Given the description of an element on the screen output the (x, y) to click on. 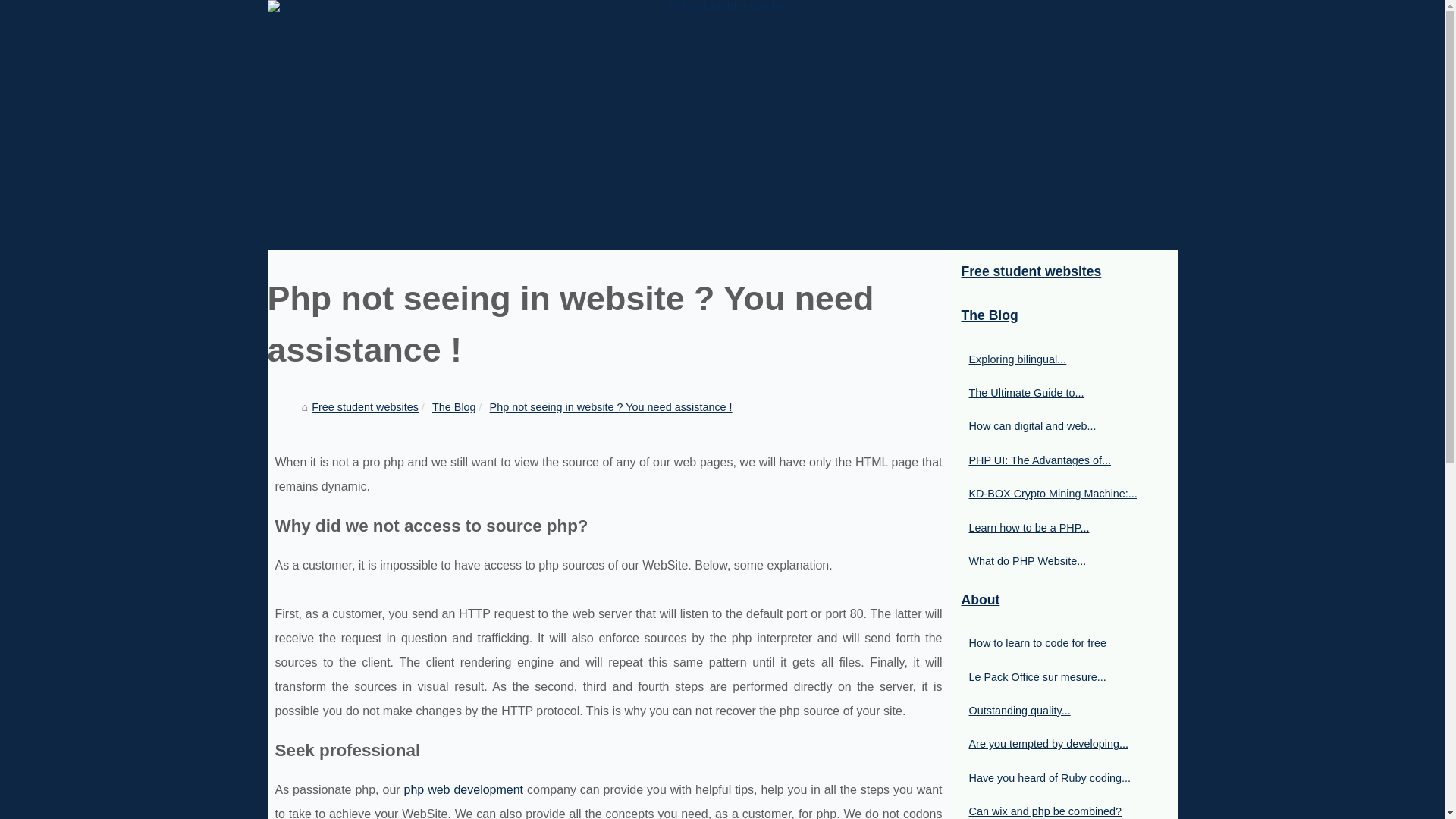
Php not seeing in website ? You need assistance ! (610, 407)
KD-BOX Crypto Mining Machine:... (1055, 493)
Are you tempted by developing... (1055, 743)
php web development (464, 789)
Learn how to be a PHP... (1055, 527)
What do PHP Website... (1055, 561)
Free student websites (365, 407)
PHP UI: The Advantages of... (1055, 460)
Free student websites (1062, 271)
Le Pack Office sur mesure... (1055, 676)
The Blog (454, 407)
Can wix and php be combined? (1055, 810)
How can digital and web... (1055, 425)
The Blog (1062, 316)
Outstanding quality... (1055, 710)
